Given the description of an element on the screen output the (x, y) to click on. 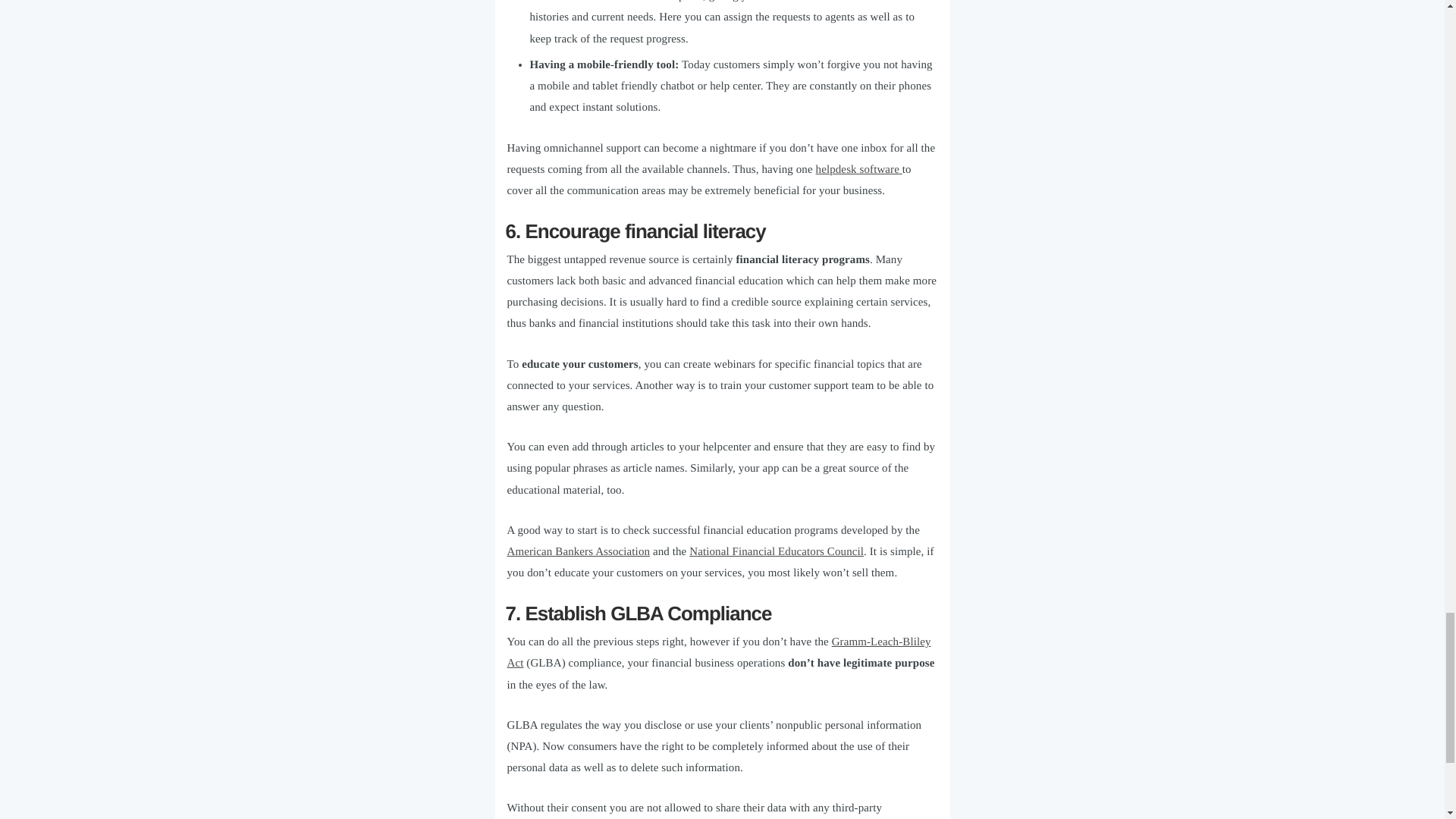
Gramm-Leach-Bliley Act (718, 652)
American Bankers Association (577, 551)
National Financial Educators Council (775, 551)
helpdesk software (858, 169)
